Given the description of an element on the screen output the (x, y) to click on. 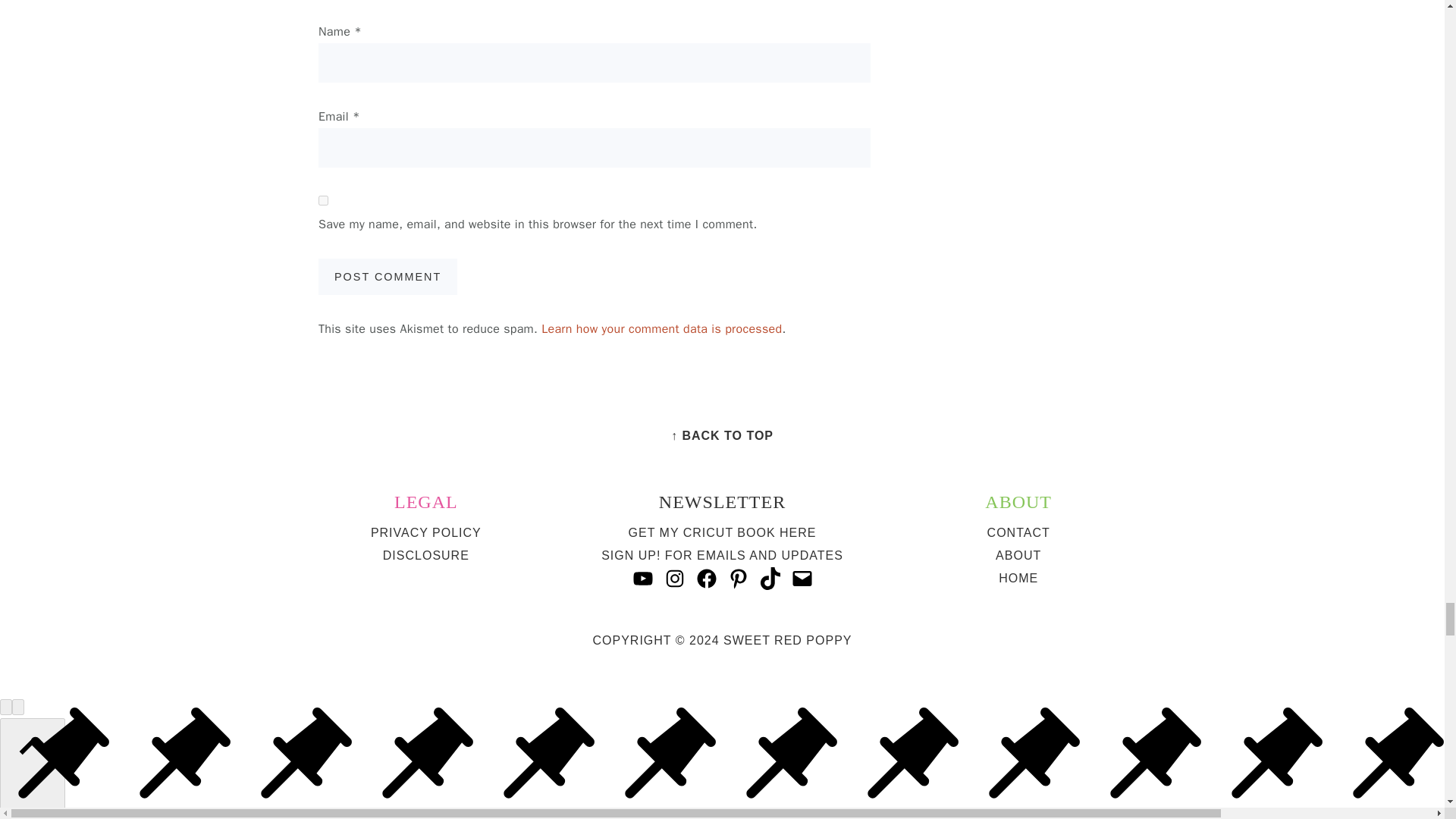
yes (323, 200)
Post Comment (387, 276)
